Given the description of an element on the screen output the (x, y) to click on. 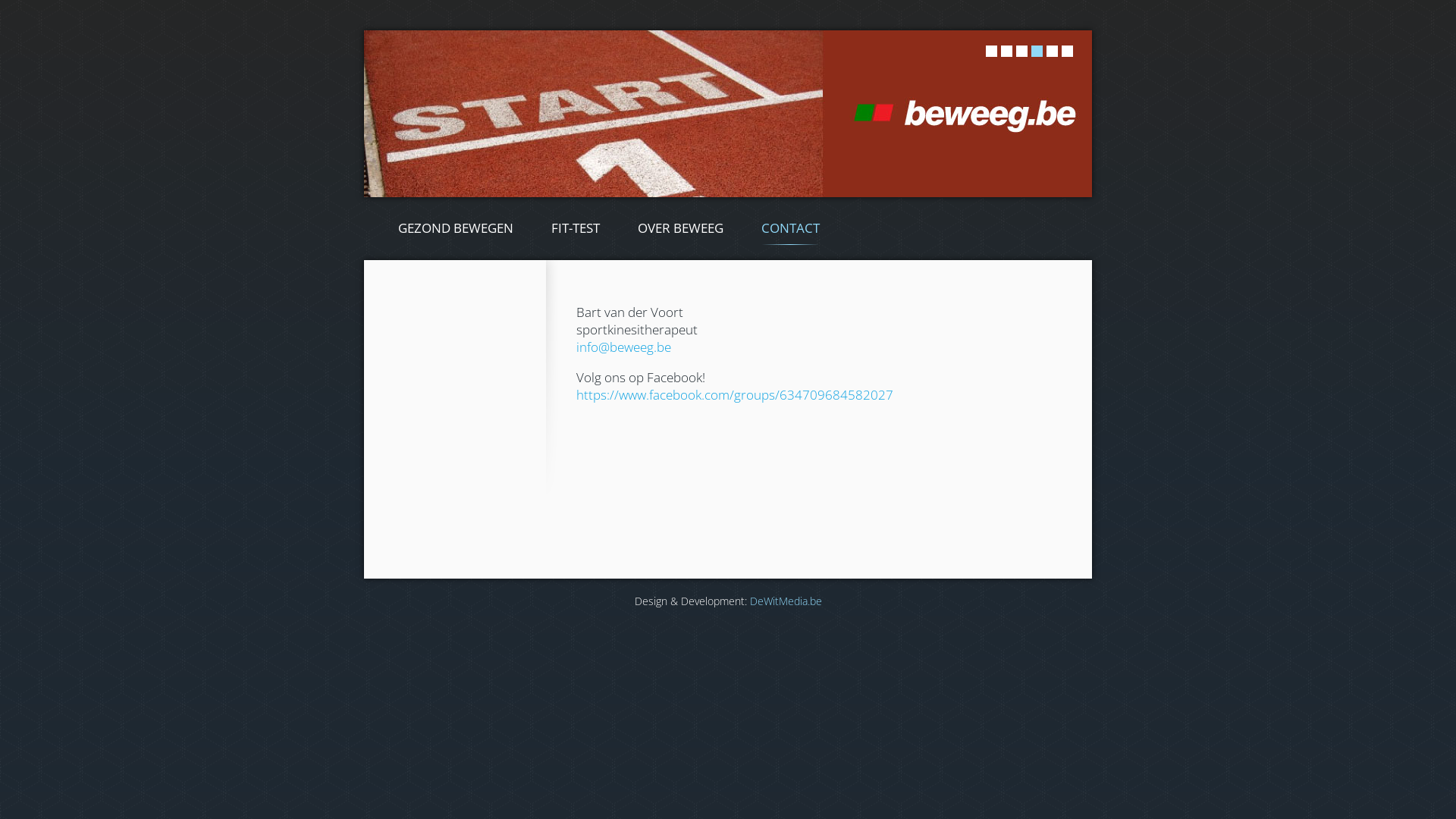
FIT-TEST Element type: text (575, 228)
DeWitMedia.be Element type: text (785, 600)
CONTACT Element type: text (790, 228)
OVER BEWEEG Element type: text (680, 228)
https://www.facebook.com/groups/634709684582027 Element type: text (734, 394)
GEZOND BEWEGEN Element type: text (455, 228)
info@beweeg.be Element type: text (623, 346)
